Given the description of an element on the screen output the (x, y) to click on. 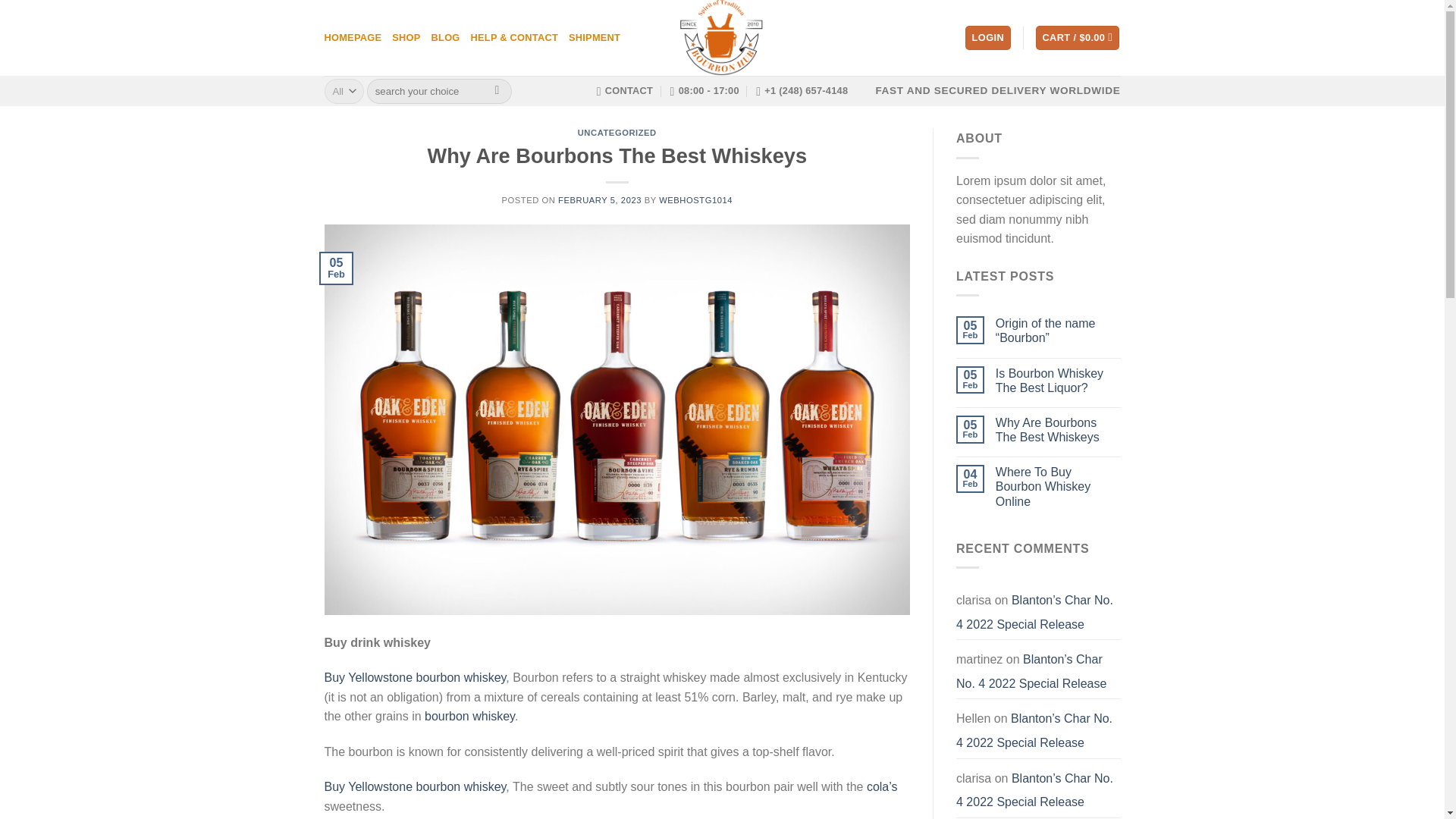
Is Bourbon Whiskey The Best Liquor? (1058, 379)
08:00 - 17:00 (704, 91)
WEBHOSTG1014 (695, 199)
SHIPMENT (594, 37)
HOMEPAGE (352, 37)
Where To Buy Bourbon Whiskey Online (1058, 486)
Cart (1077, 37)
Buy Yellowstone bourbon whiskey (415, 786)
CONTACT (624, 91)
Why Are Bourbons The Best Whiskeys (1058, 429)
Search (496, 90)
UNCATEGORIZED (617, 132)
BLOG (445, 37)
FEBRUARY 5, 2023 (599, 199)
bourbon shop (721, 38)
